Given the description of an element on the screen output the (x, y) to click on. 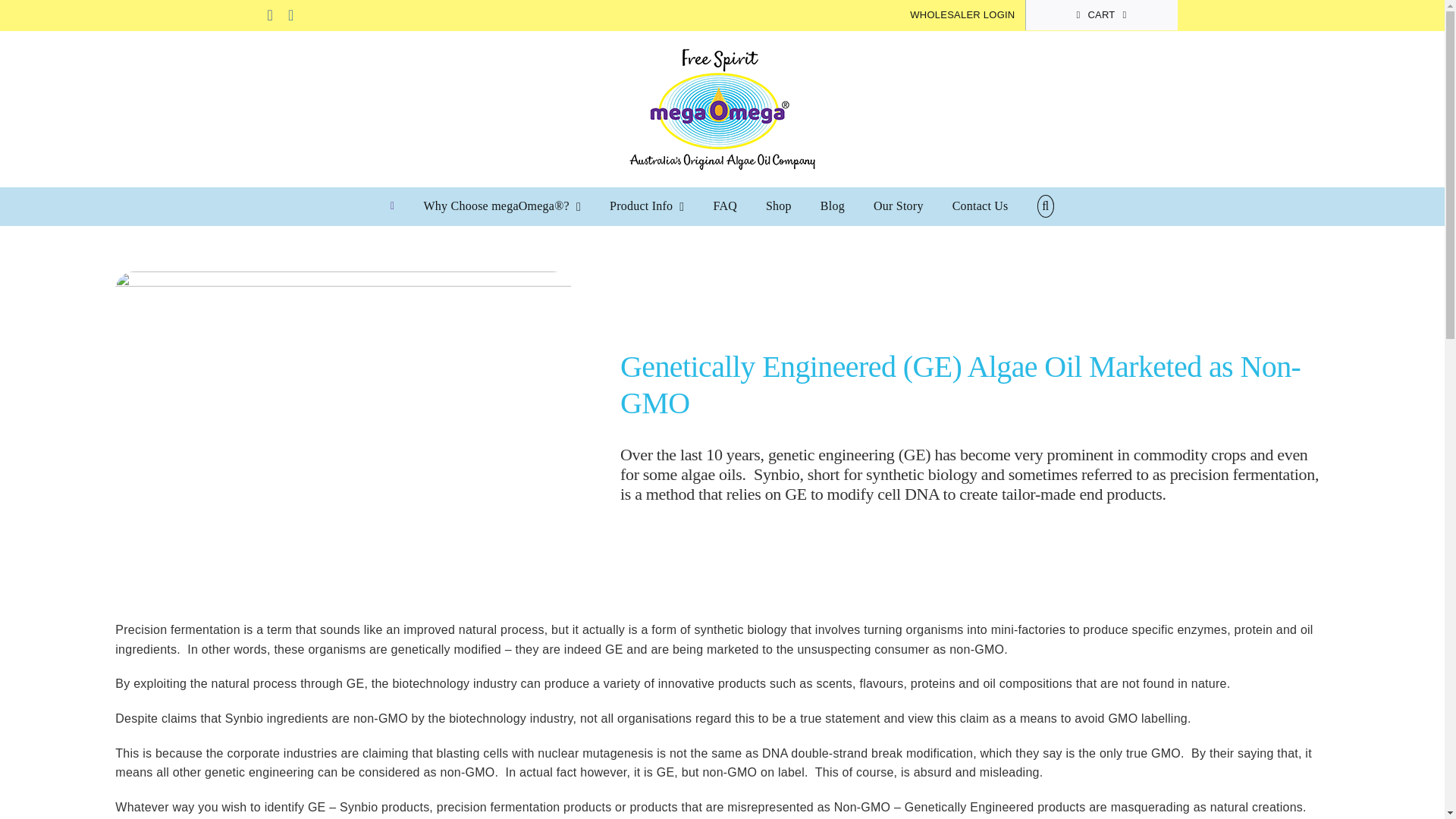
Our Story (898, 206)
Contact Us (980, 206)
CART (1100, 15)
WHOLESALER LOGIN (962, 15)
Product Info (647, 206)
